Given the description of an element on the screen output the (x, y) to click on. 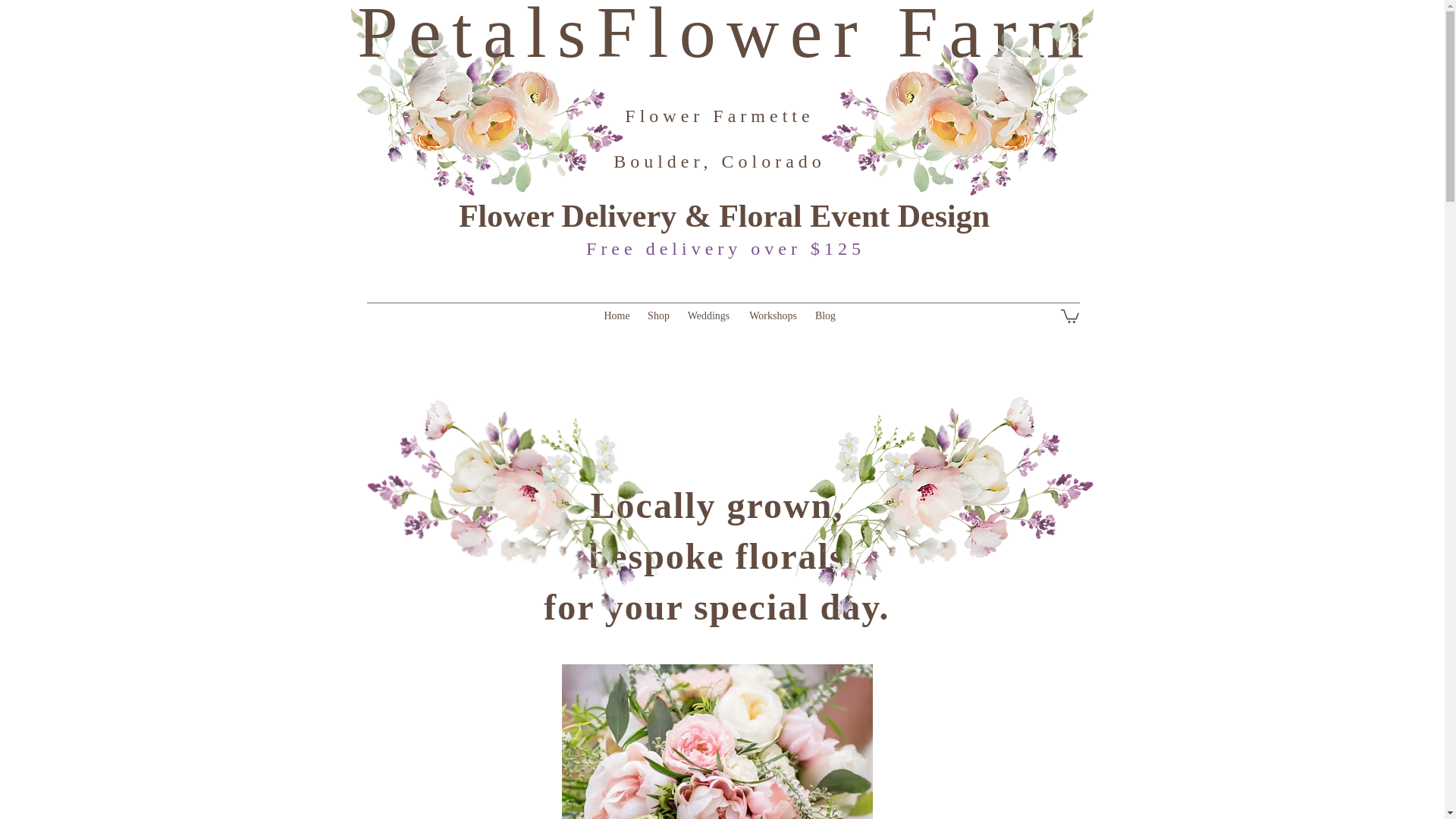
Weddings (708, 315)
Workshops (772, 315)
Blog (824, 315)
Home (616, 315)
